Given the description of an element on the screen output the (x, y) to click on. 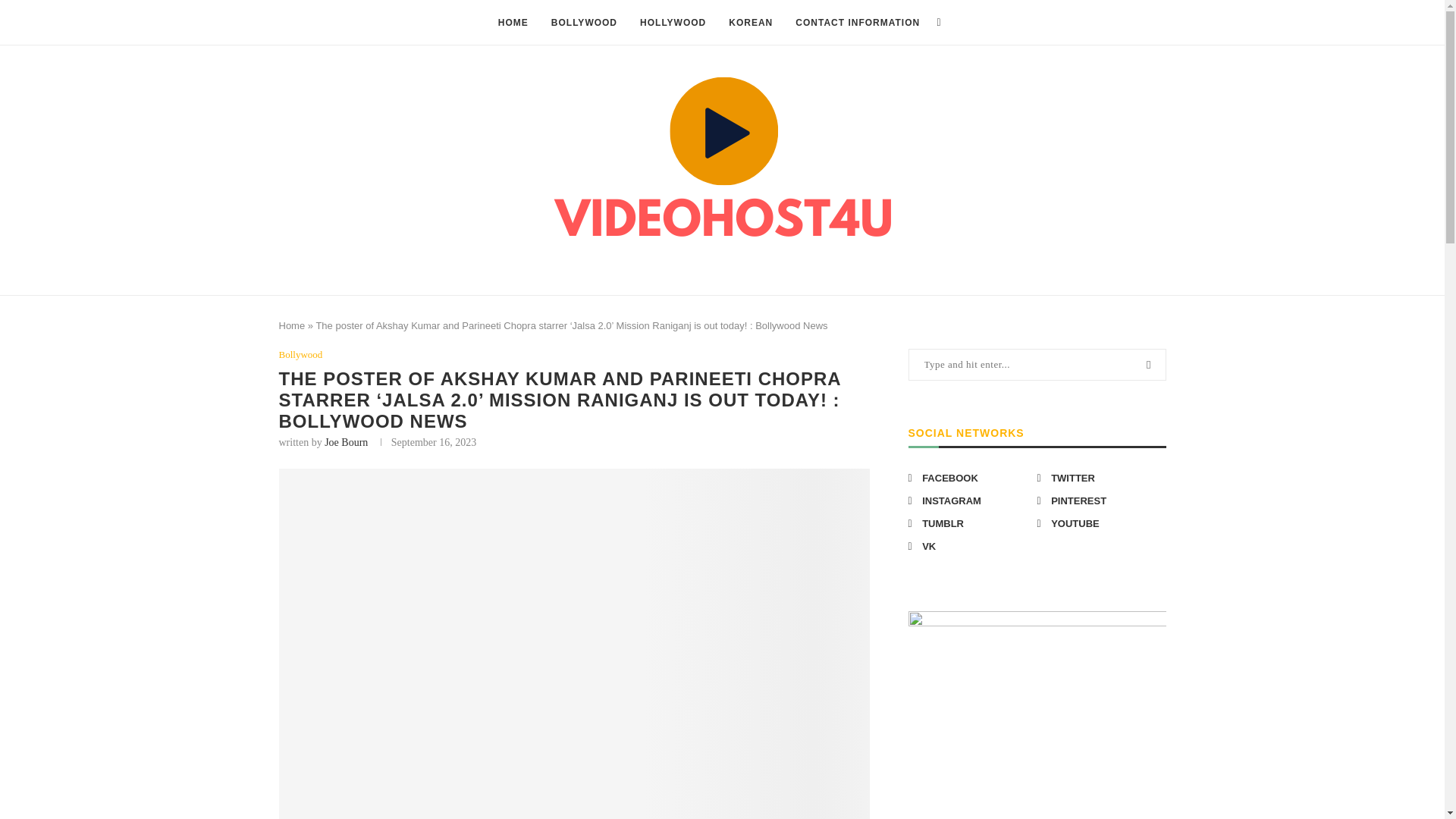
CONTACT INFORMATION (857, 22)
KOREAN (751, 22)
Bollywood (301, 354)
HOLLYWOOD (673, 22)
Home (292, 325)
BOLLYWOOD (584, 22)
Joe Bourn (346, 441)
